Given the description of an element on the screen output the (x, y) to click on. 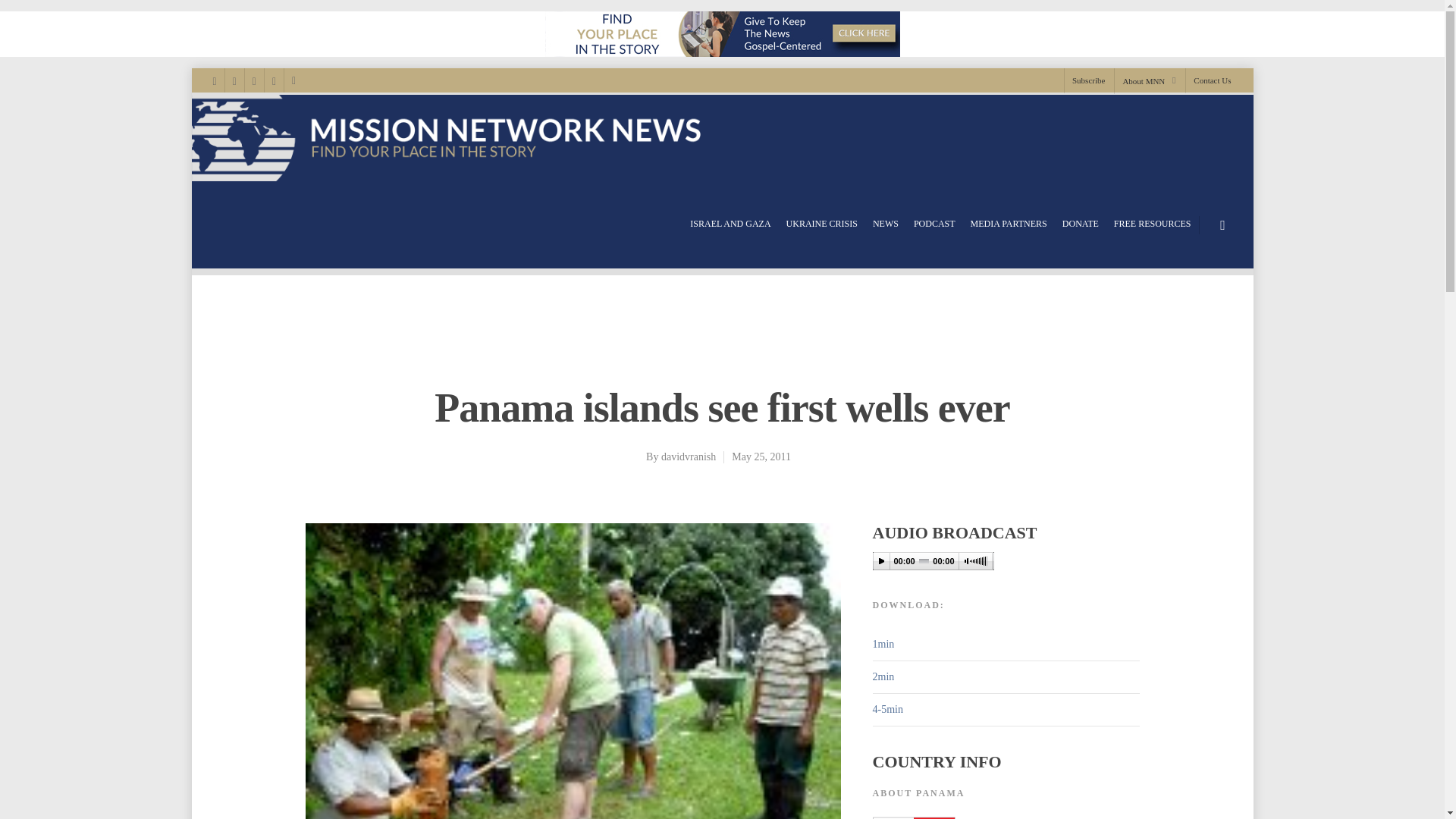
Subscribe (1088, 80)
ISRAEL AND GAZA (730, 223)
MEDIA PARTNERS (1008, 223)
About MNN (1148, 80)
Posts by davidvranish (688, 456)
FREE RESOURCES (1152, 223)
Contact Us (1207, 80)
davidvranish (688, 456)
